Given the description of an element on the screen output the (x, y) to click on. 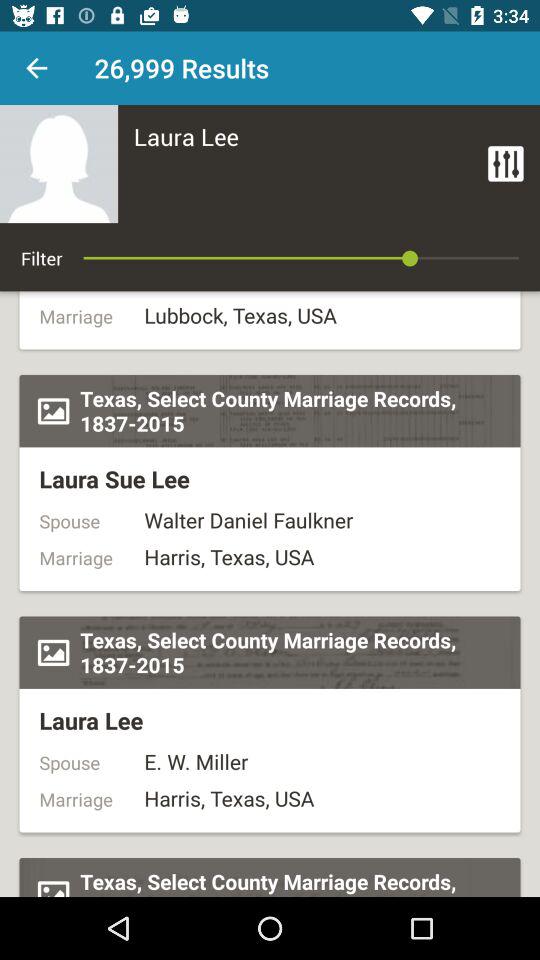
turn off item next to the laura lee icon (505, 163)
